Given the description of an element on the screen output the (x, y) to click on. 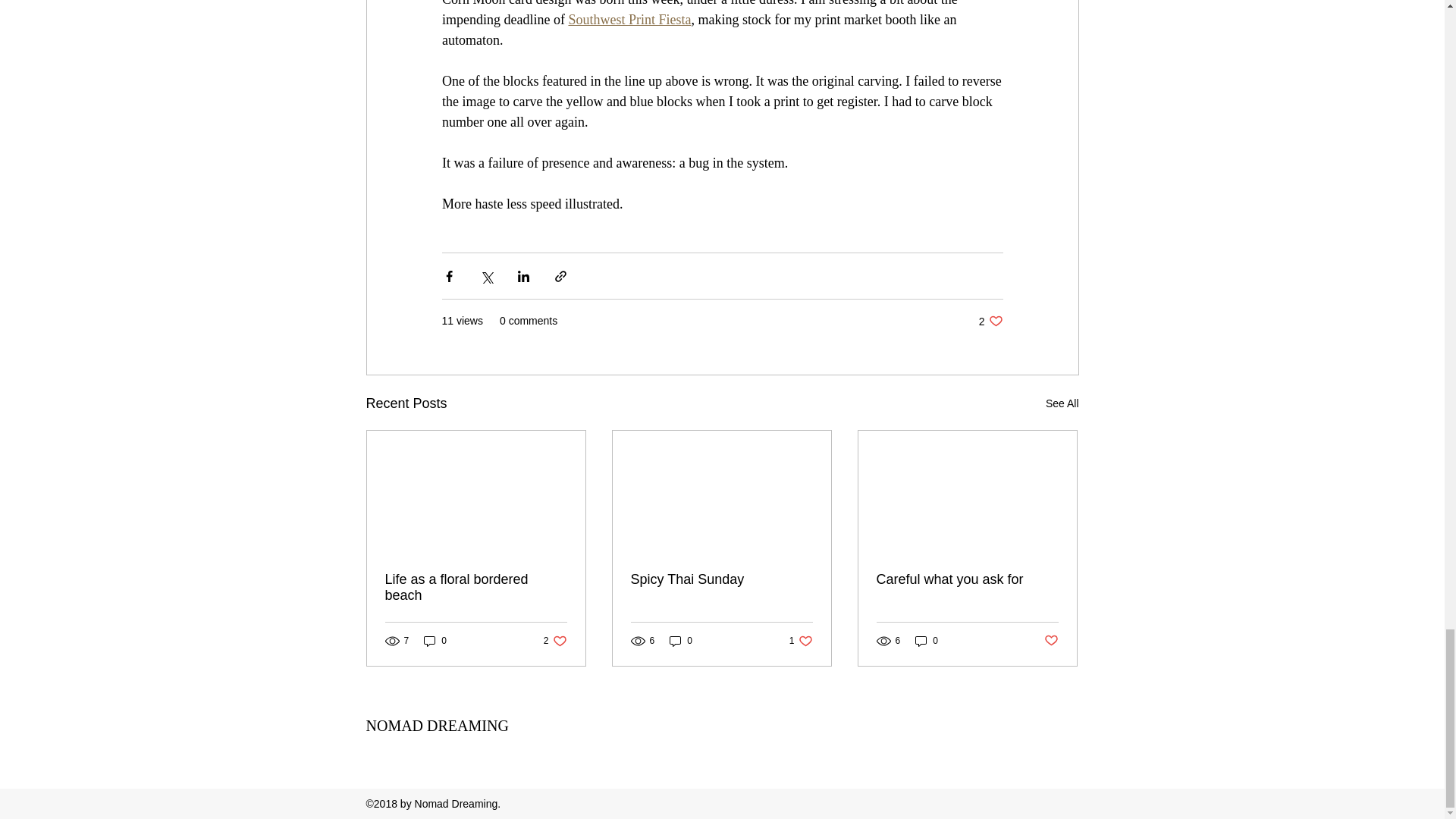
Southwest Print Fiesta (628, 19)
0 (555, 640)
See All (435, 640)
Life as a floral bordered beach (1061, 403)
Post not marked as liked (476, 587)
0 (990, 320)
Spicy Thai Sunday (1050, 641)
0 (926, 640)
Careful what you ask for (721, 579)
